Given the description of an element on the screen output the (x, y) to click on. 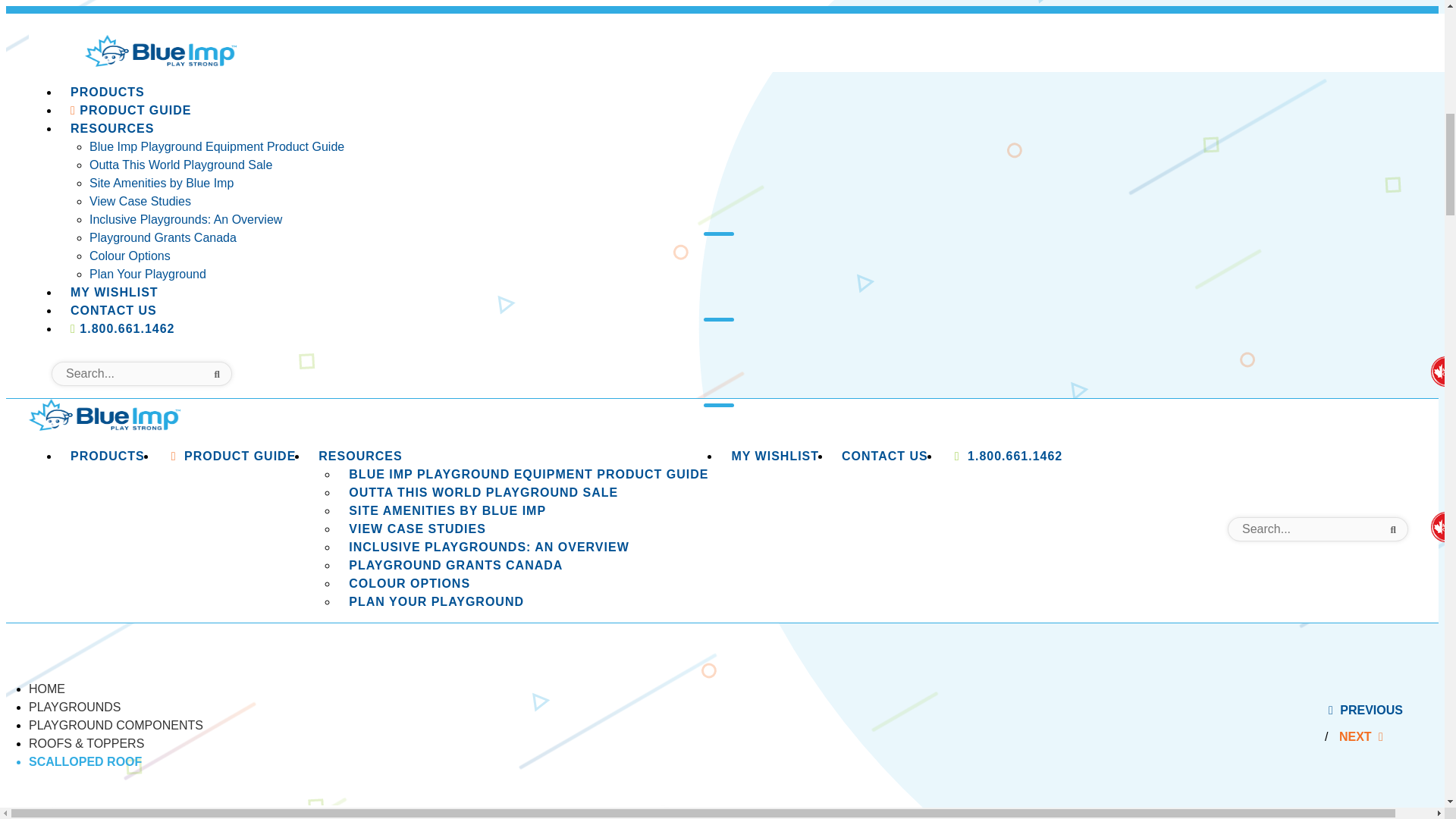
School Playgrounds (880, 161)
All Playgrounds (880, 36)
